Given the description of an element on the screen output the (x, y) to click on. 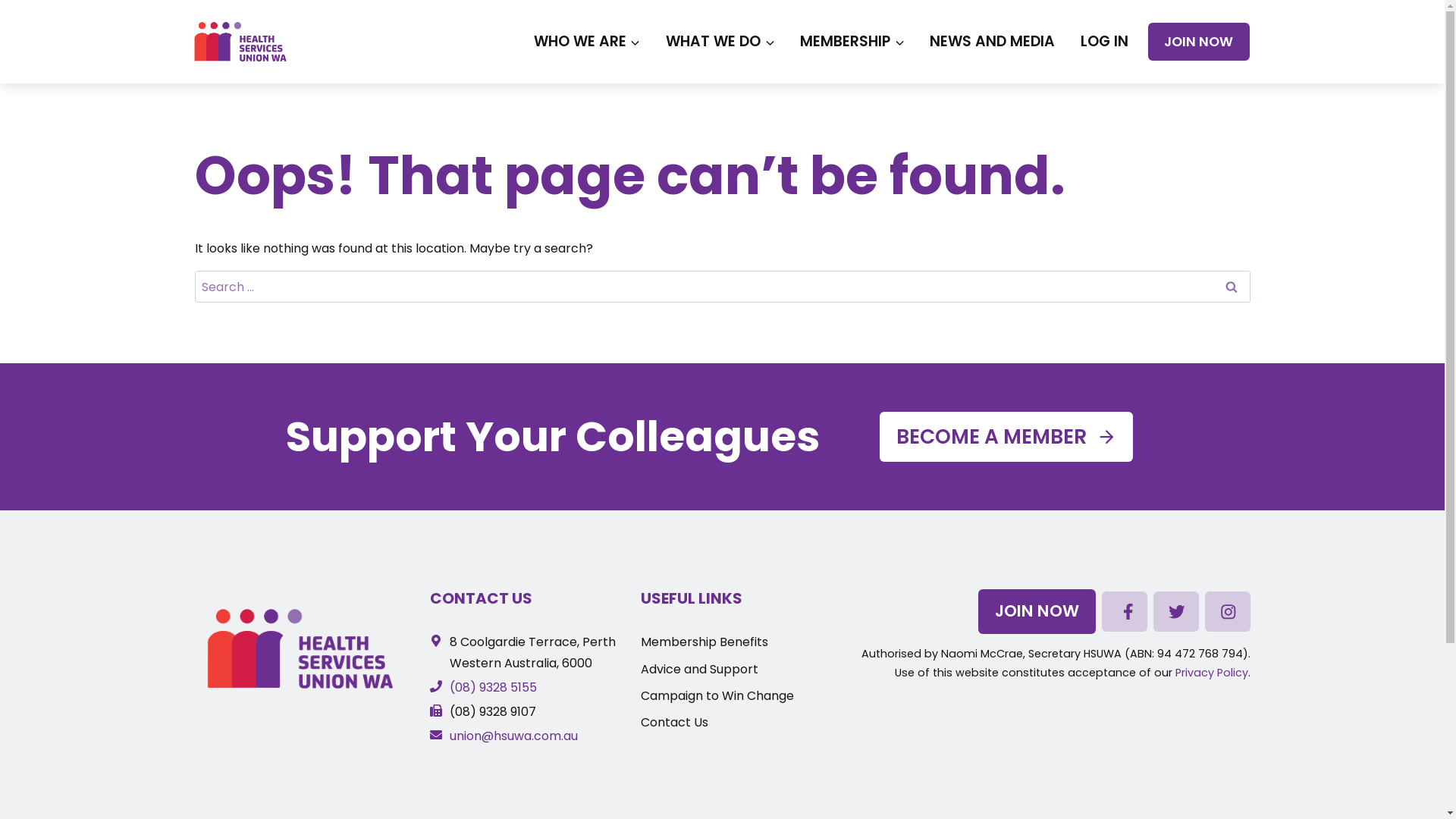
(08) 9328 5155 Element type: text (482, 687)
union@hsuwa.com.au Element type: text (503, 735)
NEWS AND MEDIA Element type: text (992, 41)
Contact Us Element type: text (674, 722)
Membership Benefits Element type: text (704, 641)
Campaign to Win Change Element type: text (716, 695)
Privacy Policy Element type: text (1211, 672)
LOG IN Element type: text (1103, 41)
CONTACT US Element type: text (480, 597)
WHAT WE DO Element type: text (719, 41)
JOIN NOW Element type: text (1036, 611)
Search Element type: text (1230, 286)
WHO WE ARE Element type: text (586, 41)
BECOME A MEMBER Element type: text (1006, 436)
MEMBERSHIP Element type: text (852, 41)
Advice and Support Element type: text (699, 668)
JOIN NOW Element type: text (1198, 40)
